Given the description of an element on the screen output the (x, y) to click on. 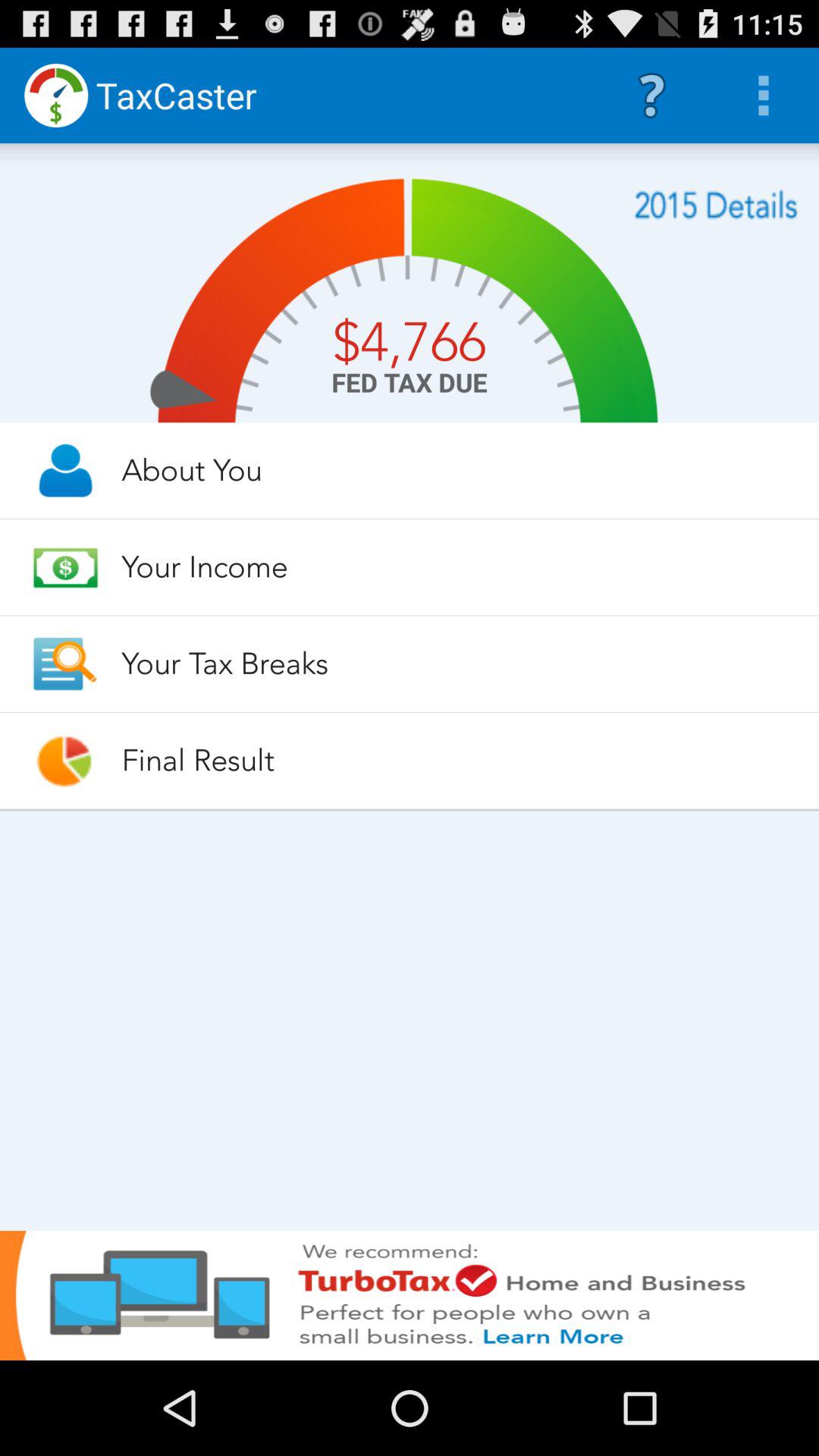
click your tax breaks app (456, 663)
